Given the description of an element on the screen output the (x, y) to click on. 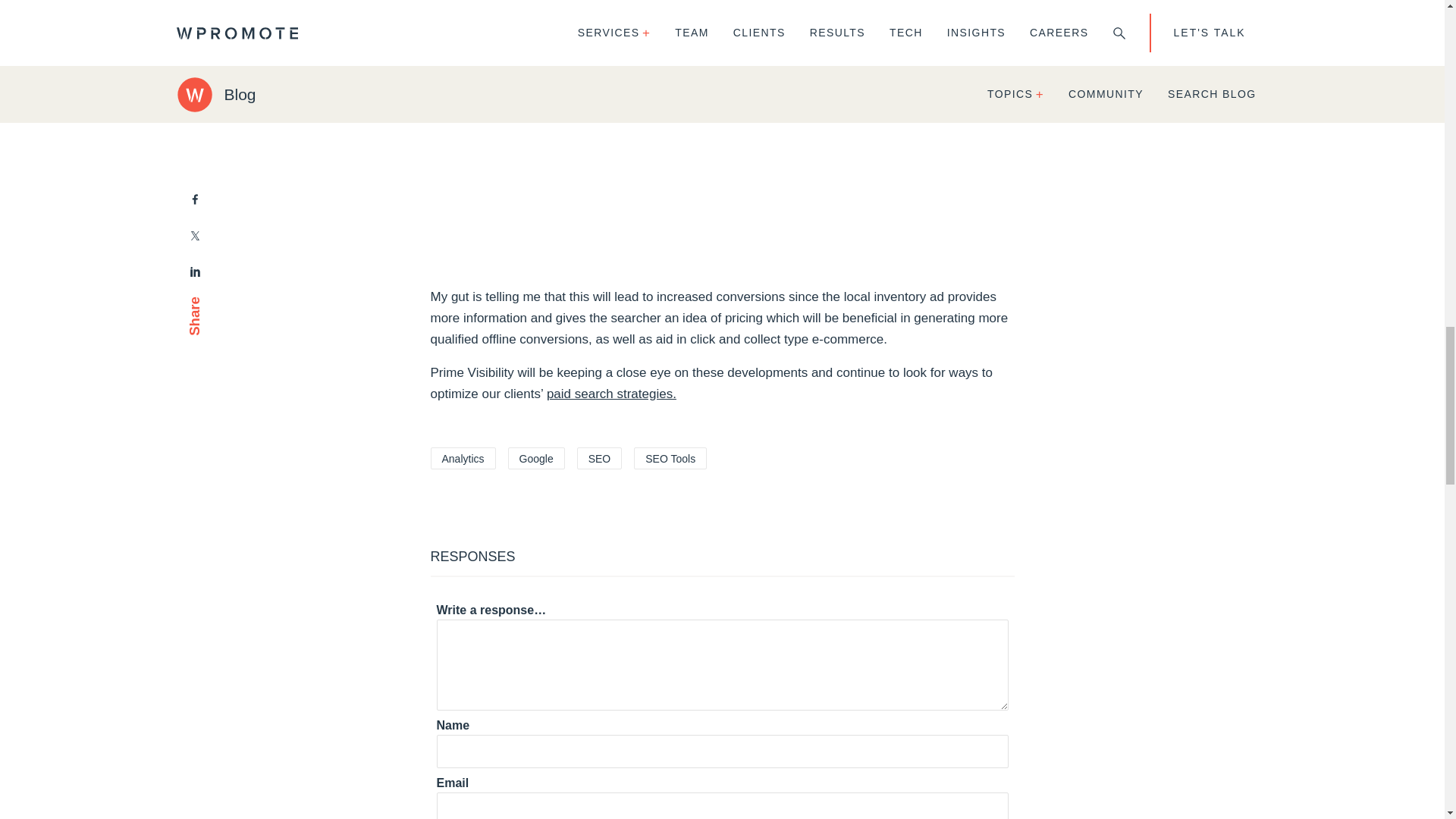
Analytics (463, 458)
paid search strategies. (612, 393)
SEO Tools (669, 458)
Google (536, 458)
SEO (599, 458)
